Given the description of an element on the screen output the (x, y) to click on. 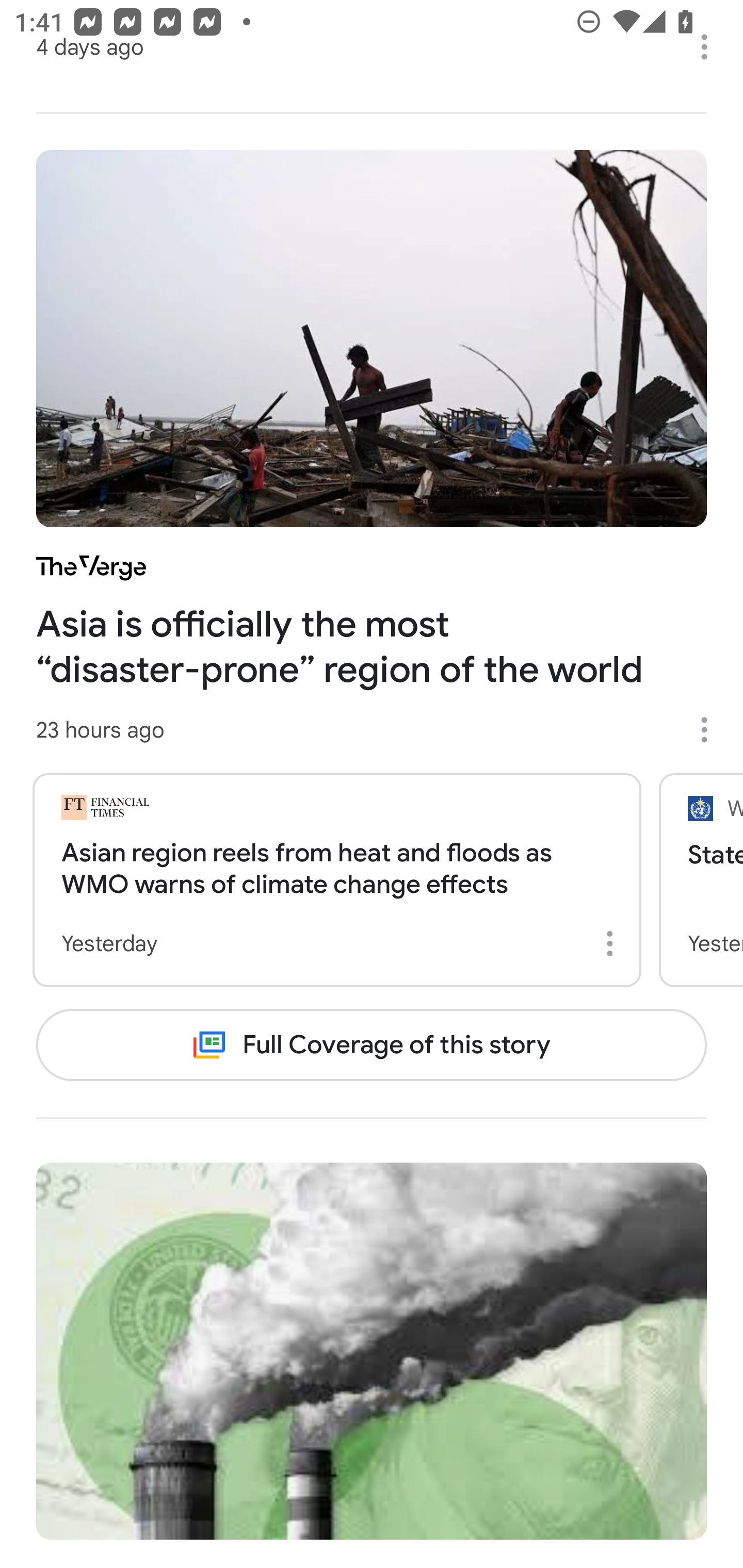
More options (711, 46)
More options (711, 729)
More options (613, 943)
Full Coverage of this story (371, 1044)
